Given the description of an element on the screen output the (x, y) to click on. 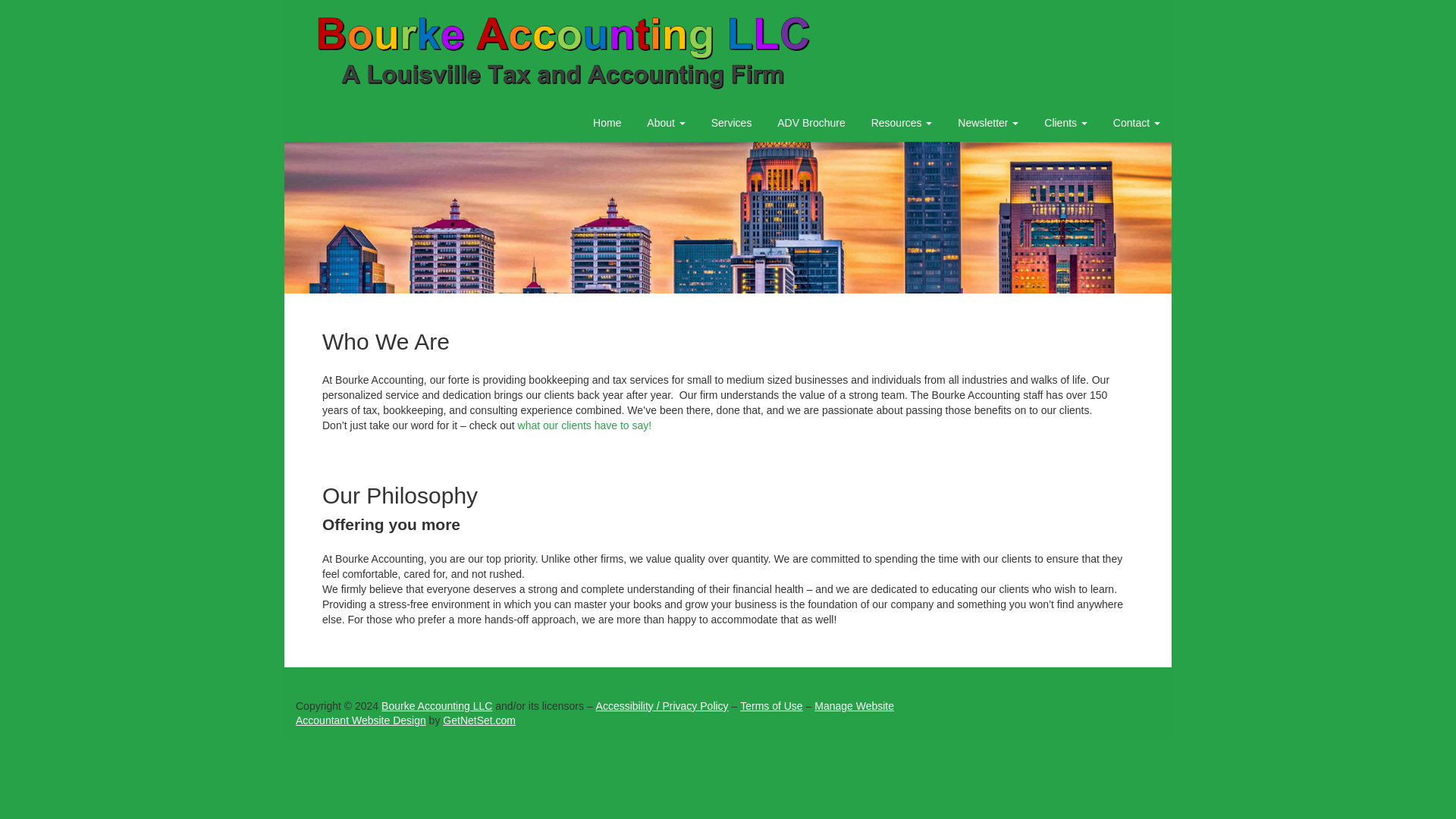
Resources (901, 122)
About (664, 122)
Services (731, 122)
Home (605, 122)
About (664, 122)
Home (605, 122)
ADV Brochure (810, 122)
